Given the description of an element on the screen output the (x, y) to click on. 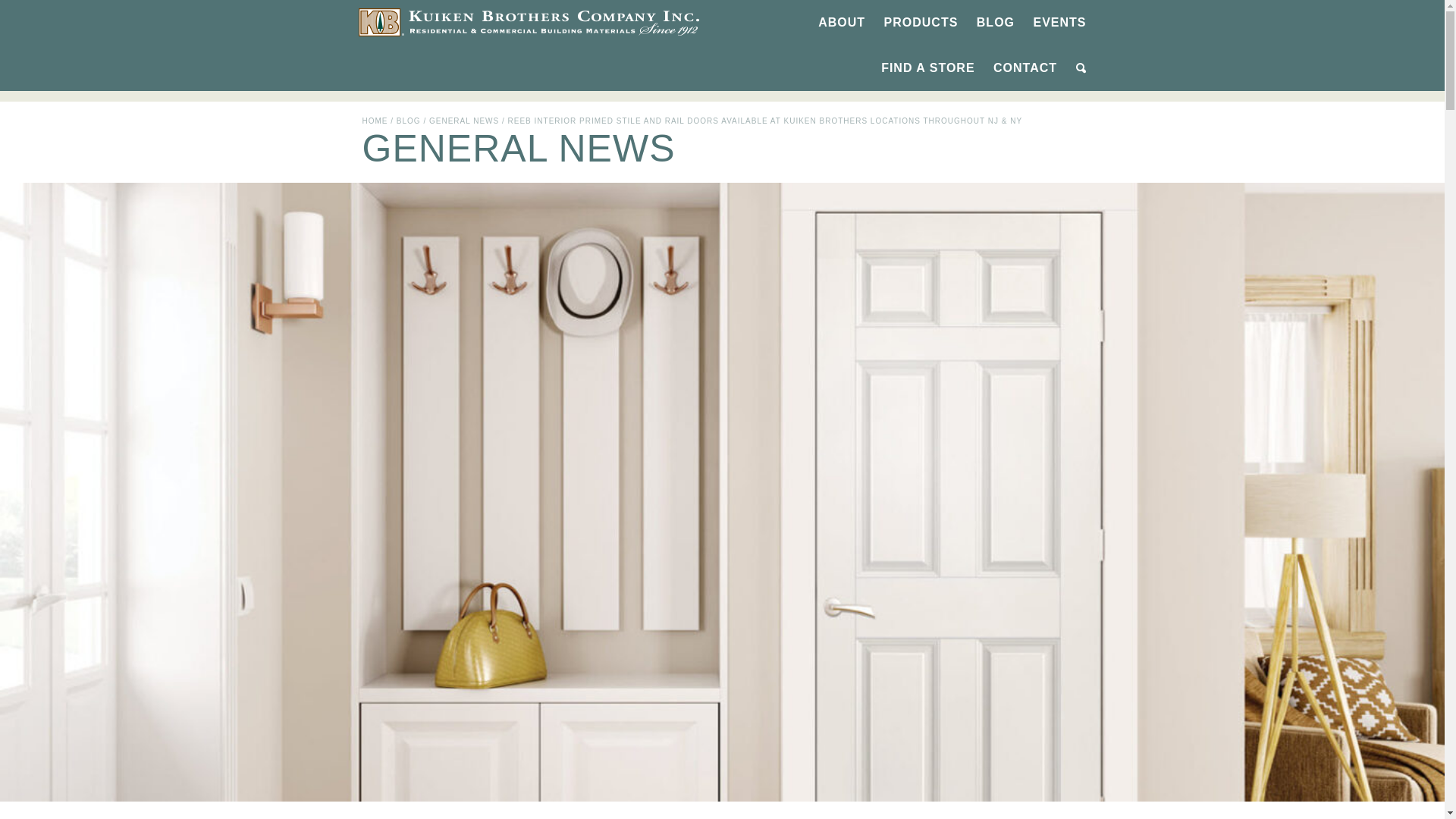
ABOUT (841, 22)
Go to Kuiken Brothers. (375, 121)
CONTACT (1024, 67)
Go to the General News category archives. (464, 121)
BLOG (995, 22)
EVENTS (1059, 22)
PRODUCTS (921, 22)
FIND A STORE (927, 67)
Go to Blog. (408, 121)
